Given the description of an element on the screen output the (x, y) to click on. 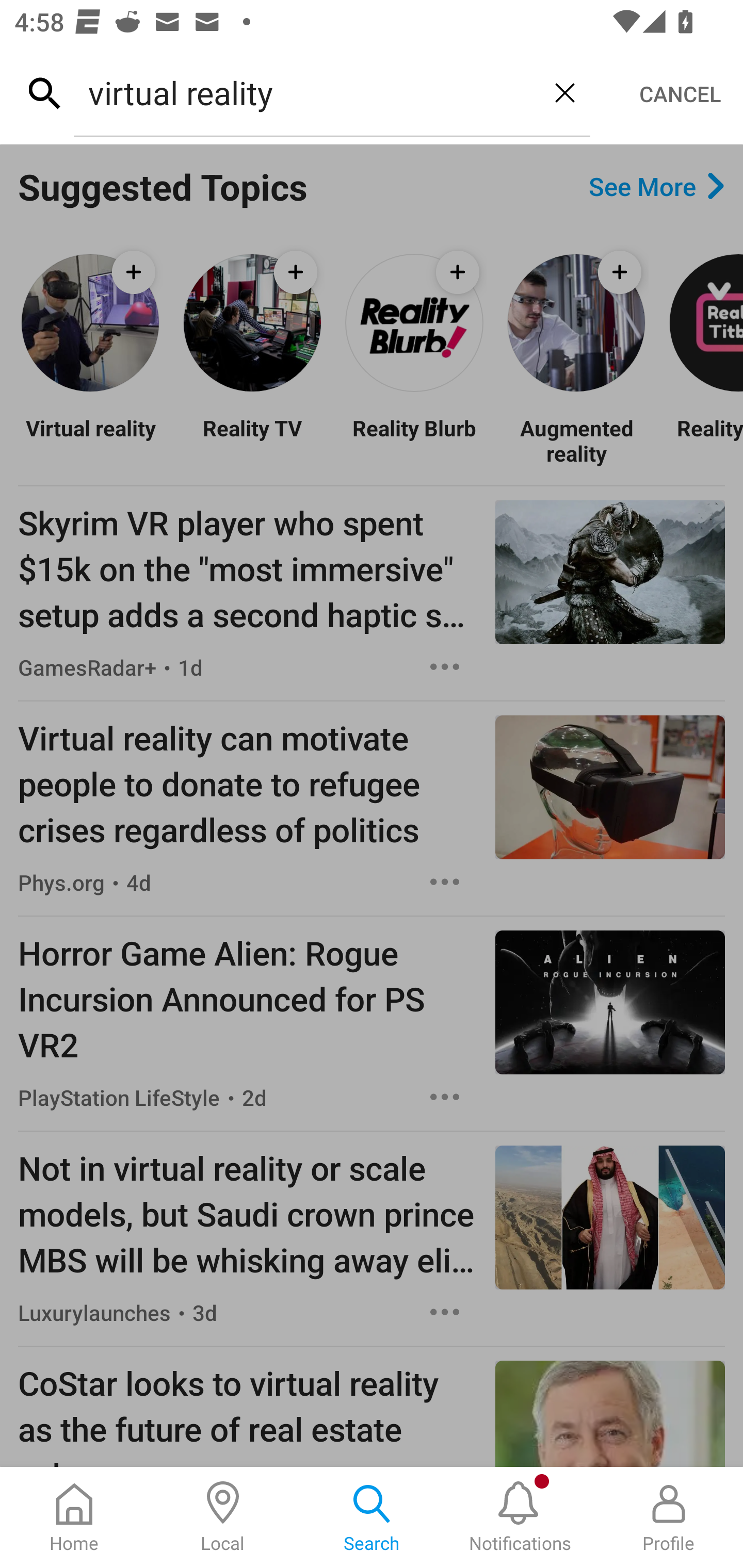
Clear query (564, 92)
CANCEL (680, 93)
virtual reality (306, 92)
See More (656, 186)
Virtual reality (89, 439)
Reality TV (251, 439)
Reality Blurb (413, 439)
Augmented reality (575, 439)
Options (444, 667)
Options (444, 881)
Options (444, 1096)
Options (444, 1312)
Home (74, 1517)
Local (222, 1517)
Notifications, New notification Notifications (519, 1517)
Profile (668, 1517)
